Given the description of an element on the screen output the (x, y) to click on. 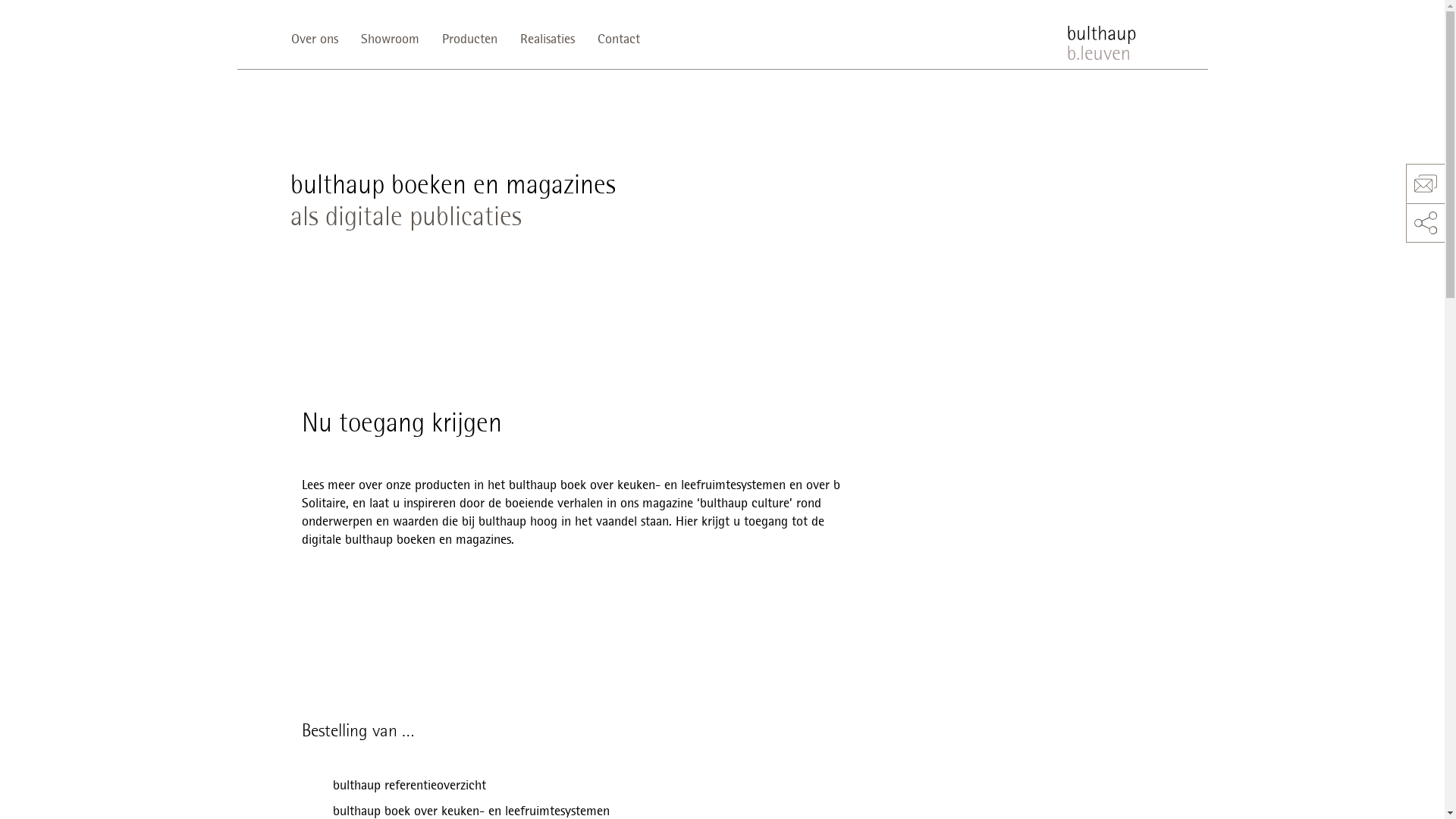
share Element type: hover (1425, 222)
Producten Element type: text (469, 38)
Over ons Element type: text (320, 38)
Showroom Element type: text (388, 38)
contact Element type: hover (1425, 183)
Contact Element type: text (617, 38)
Realisaties Element type: text (546, 38)
